Given the description of an element on the screen output the (x, y) to click on. 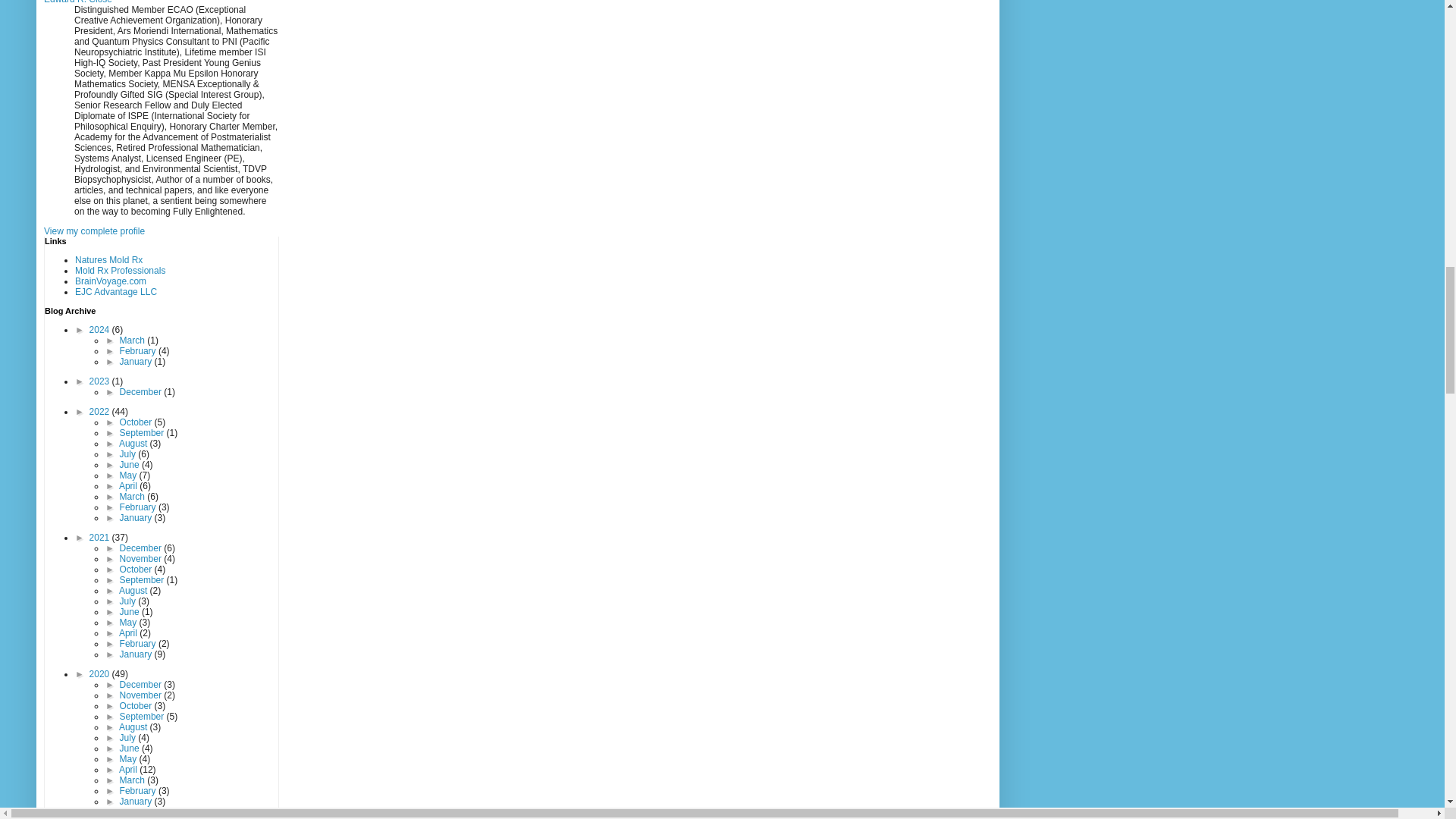
Edward R. Close (77, 2)
View my complete profile (93, 231)
